Given the description of an element on the screen output the (x, y) to click on. 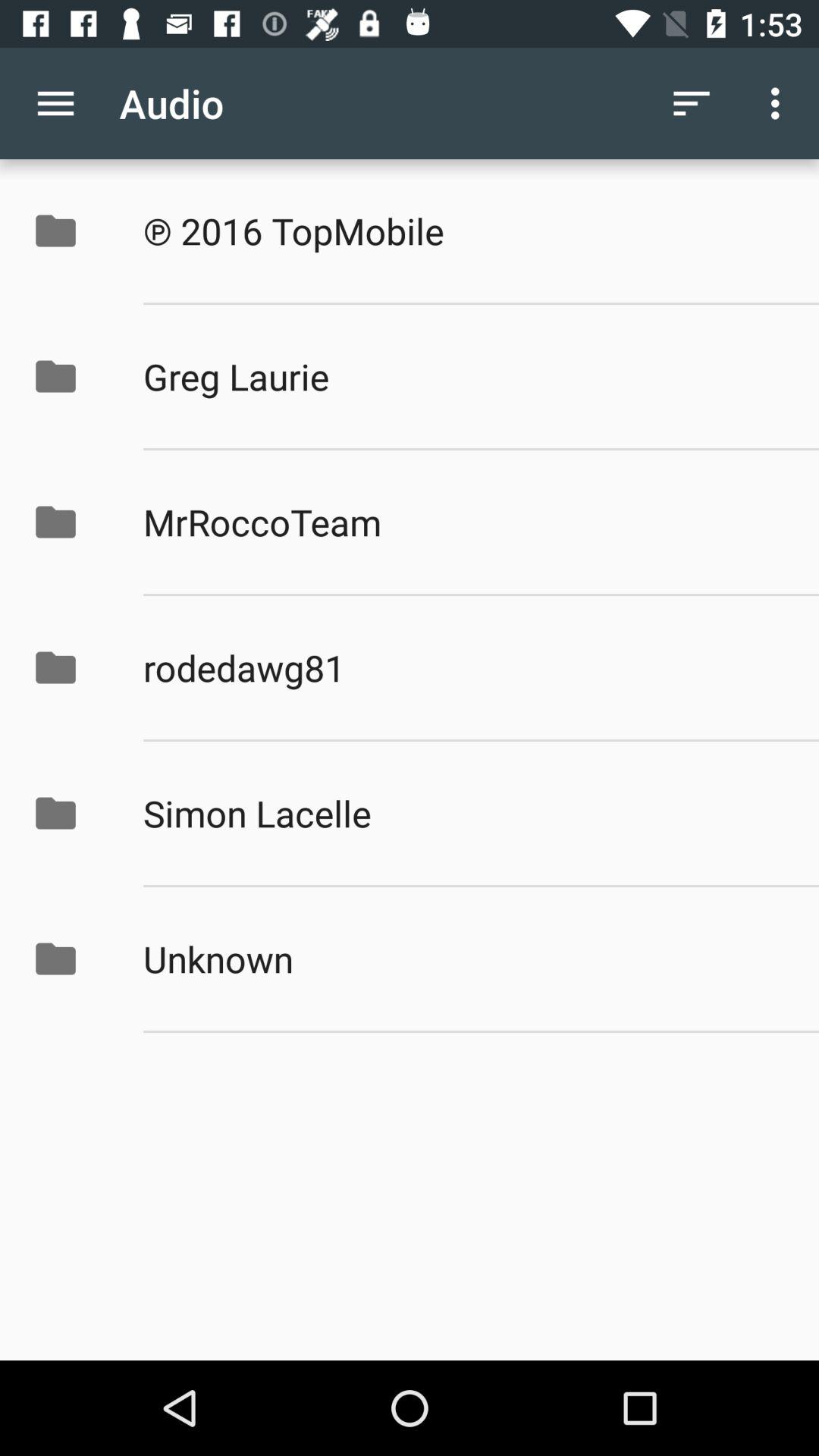
press the icon next to the audio icon (55, 103)
